Given the description of an element on the screen output the (x, y) to click on. 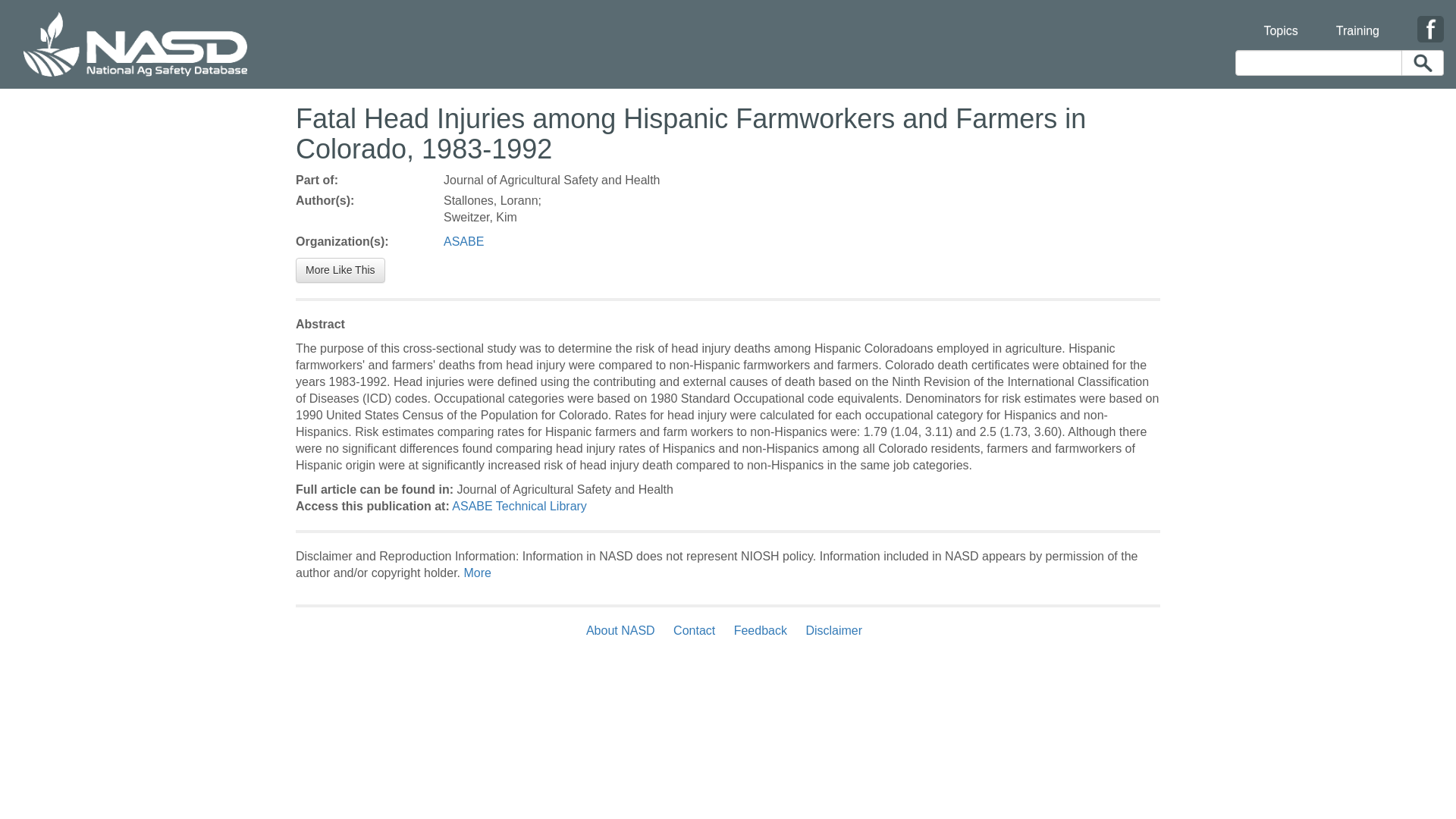
Topics (1280, 21)
Training (1357, 21)
Disclaimer (833, 630)
Contact (693, 630)
More Like This (340, 270)
More (476, 572)
Feedback (760, 630)
ASABE Technical Library (518, 505)
About NASD (624, 630)
ASABE (463, 241)
